Given the description of an element on the screen output the (x, y) to click on. 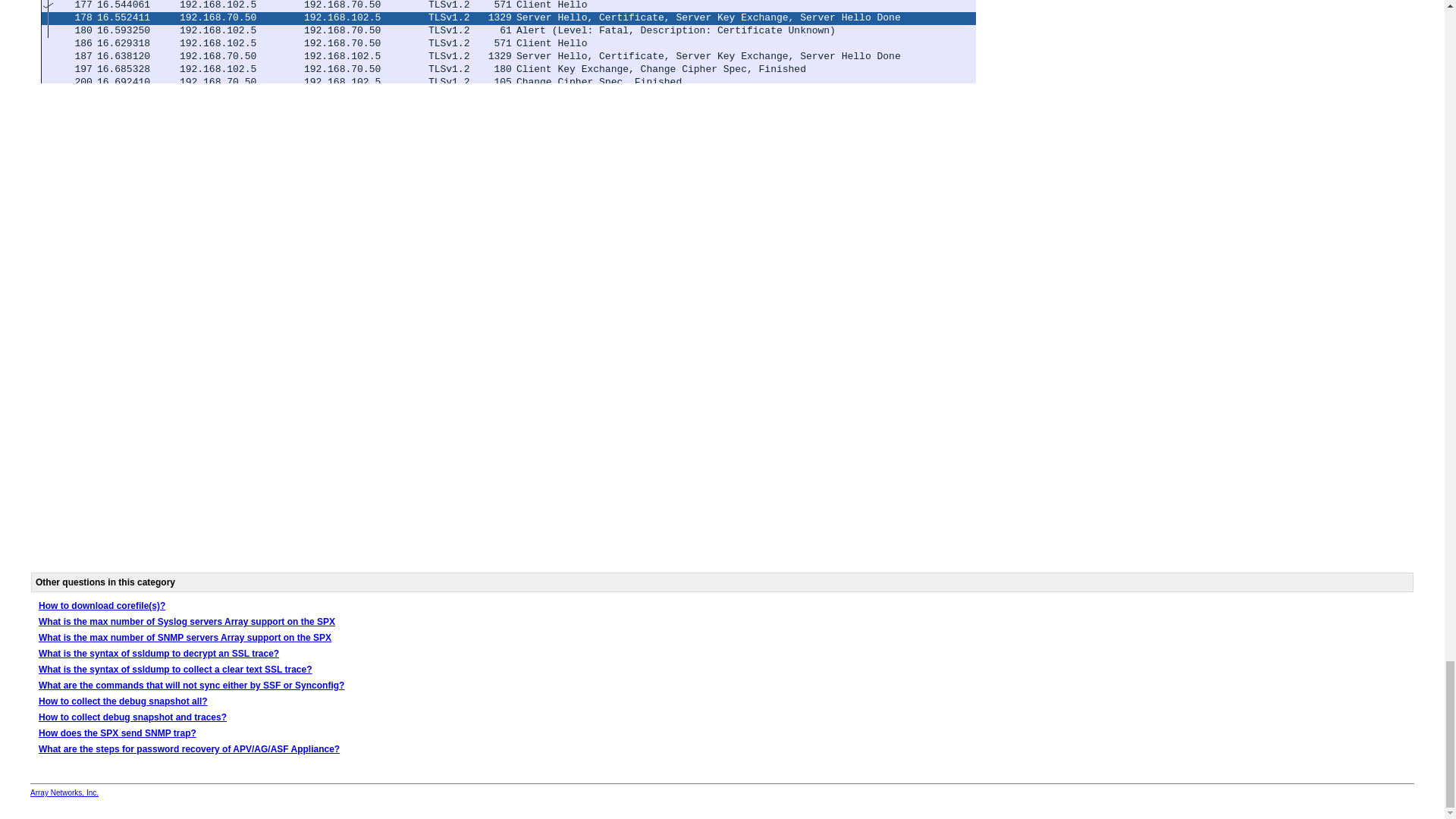
How to collect debug snapshot and traces? (133, 716)
How to collect the debug snapshot all? (123, 701)
How does the SPX send SNMP trap? (117, 733)
Array Networks, Inc. (64, 792)
What is the syntax of ssldump to decrypt an SSL trace? (159, 653)
